Given the description of an element on the screen output the (x, y) to click on. 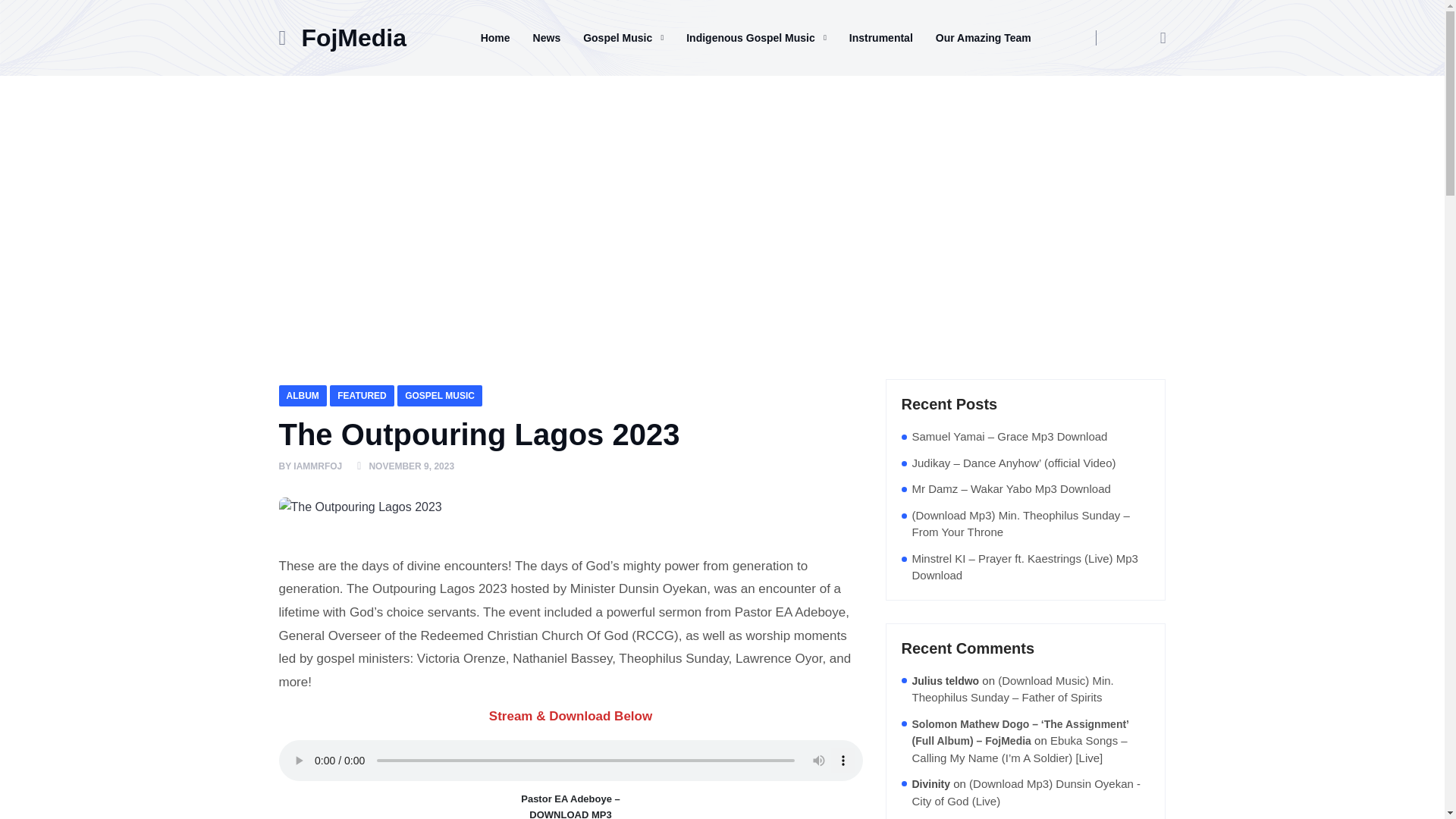
Gospel Music (623, 37)
IAMMRFOJ (318, 466)
ALBUM (302, 395)
FojMedia (353, 37)
GOSPEL MUSIC (439, 395)
News (546, 37)
Home (494, 37)
DOWNLOAD MP3 (571, 813)
Indigenous Gospel Music (756, 37)
 DOWNLOAD MP3 (571, 813)
FEATURED (361, 395)
Our Amazing Team (983, 37)
Instrumental (881, 37)
